Given the description of an element on the screen output the (x, y) to click on. 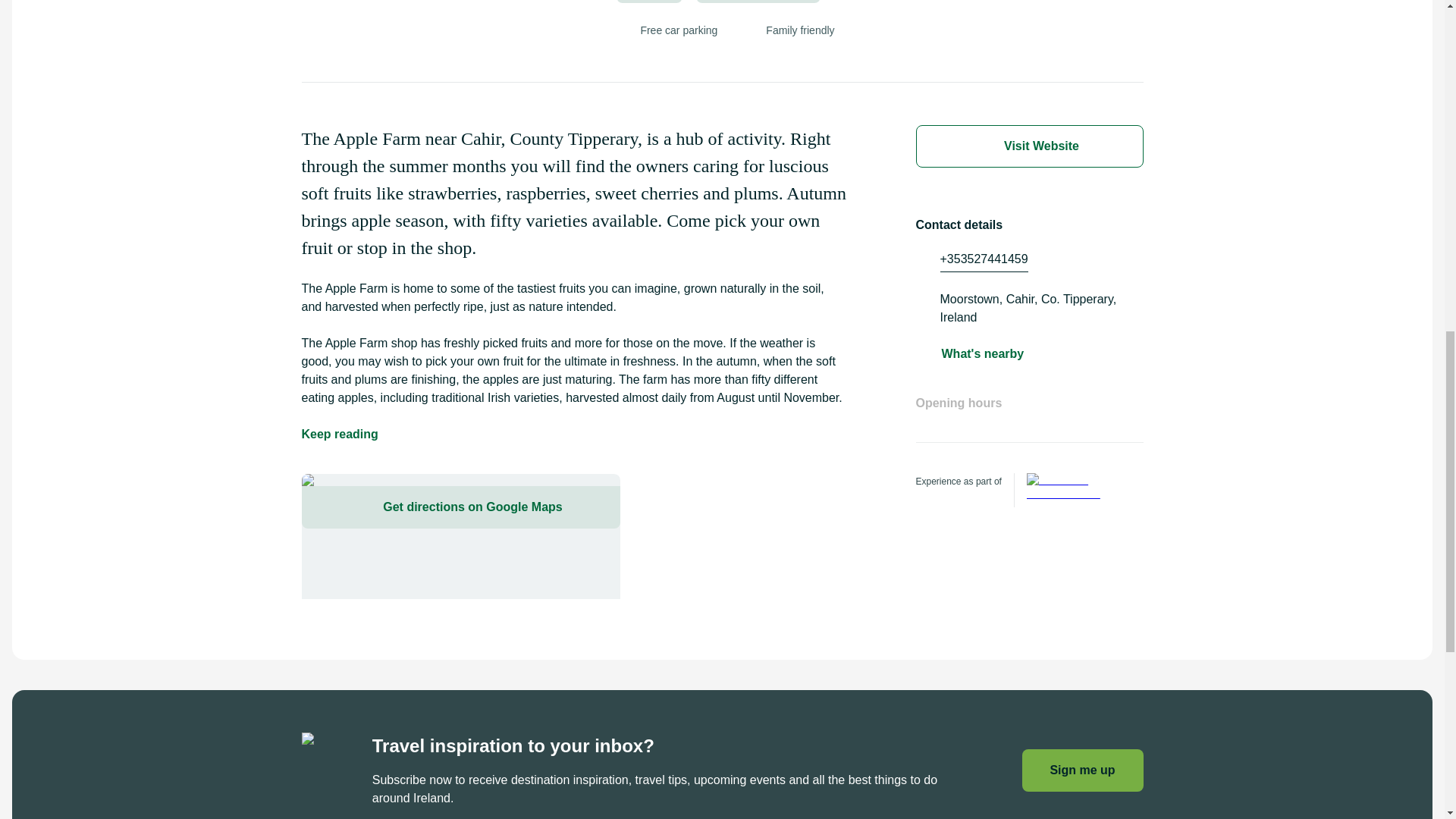
Opening hours (1028, 417)
Keep reading (339, 434)
FAMILY FUN (648, 1)
Get directions on Google Maps (460, 507)
OFF THE BEATEN TRACK (758, 1)
Visit Website (1028, 146)
Get directions on Google Maps (460, 536)
What's nearby (983, 353)
